Given the description of an element on the screen output the (x, y) to click on. 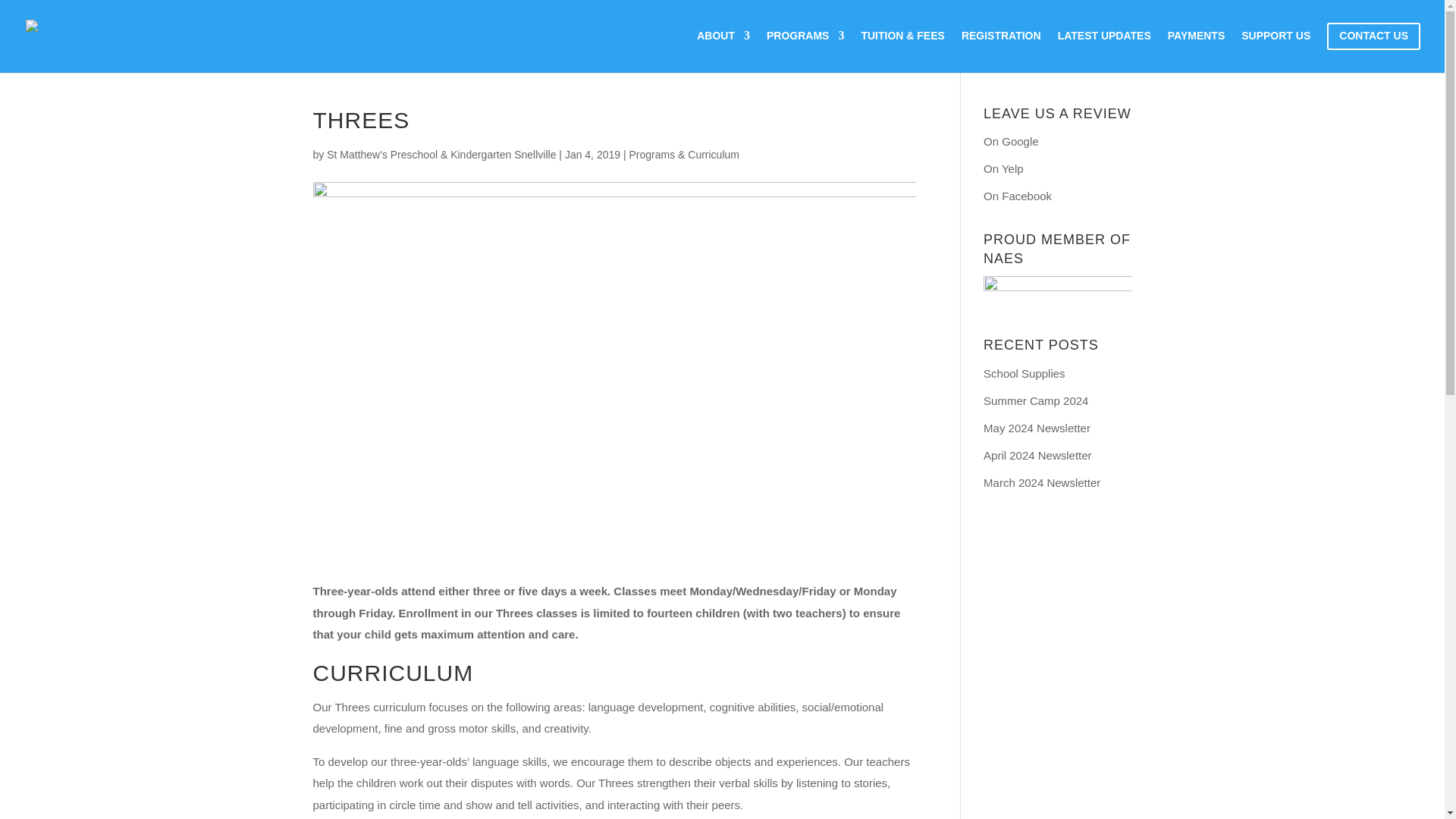
On Google (1011, 141)
On Yelp (1003, 168)
School Supplies (1024, 373)
On Facebook (1017, 195)
May 2024 Newsletter (1037, 427)
ABOUT (723, 46)
CONTACT US (1373, 47)
PAYMENTS (1195, 46)
PROGRAMS (805, 46)
April 2024 Newsletter (1038, 454)
